Given the description of an element on the screen output the (x, y) to click on. 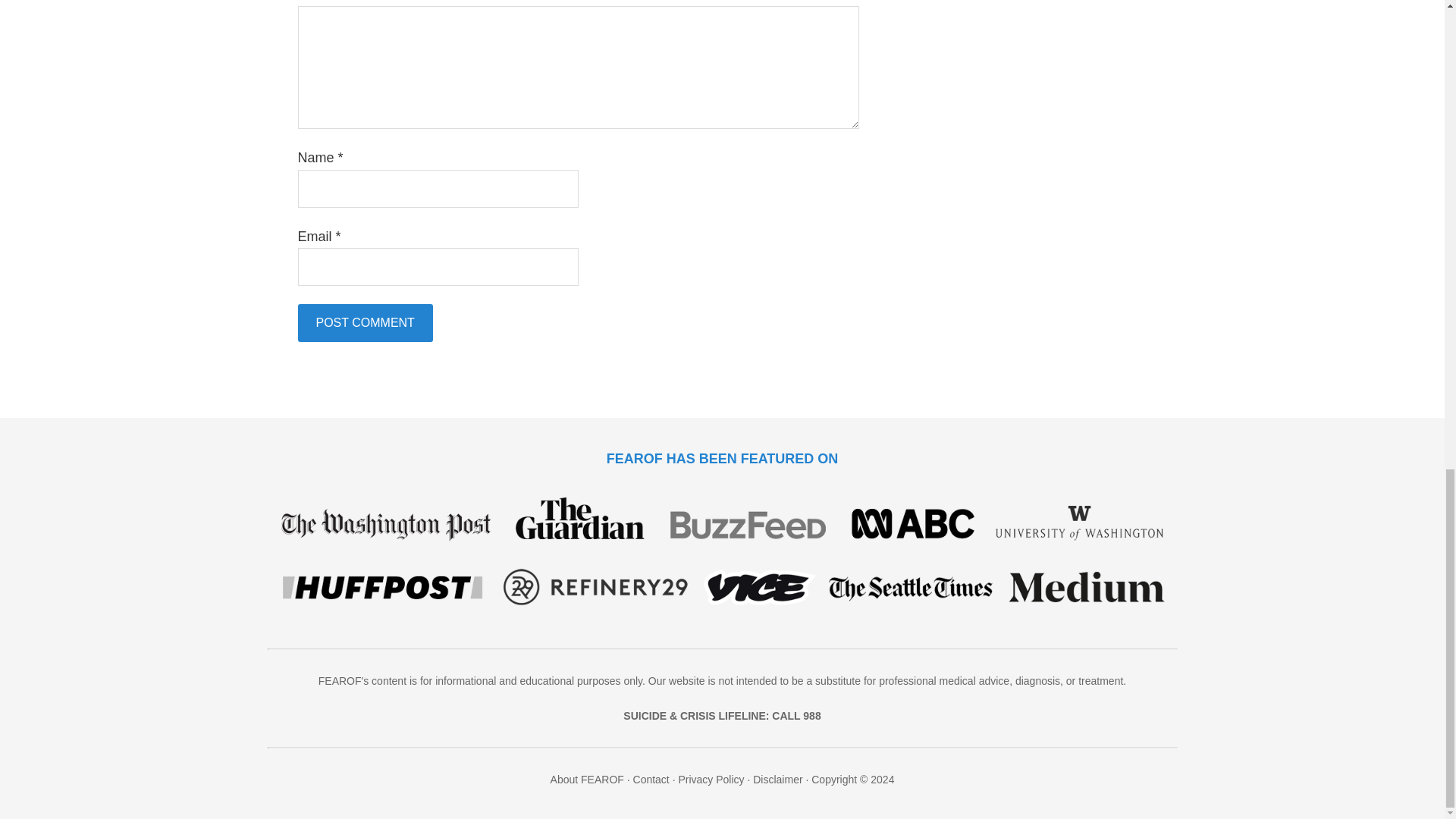
Disclaimer (777, 779)
Contact (651, 779)
Post Comment (364, 322)
About FEAROF (587, 779)
Post Comment (364, 322)
Privacy Policy (711, 779)
